Given the description of an element on the screen output the (x, y) to click on. 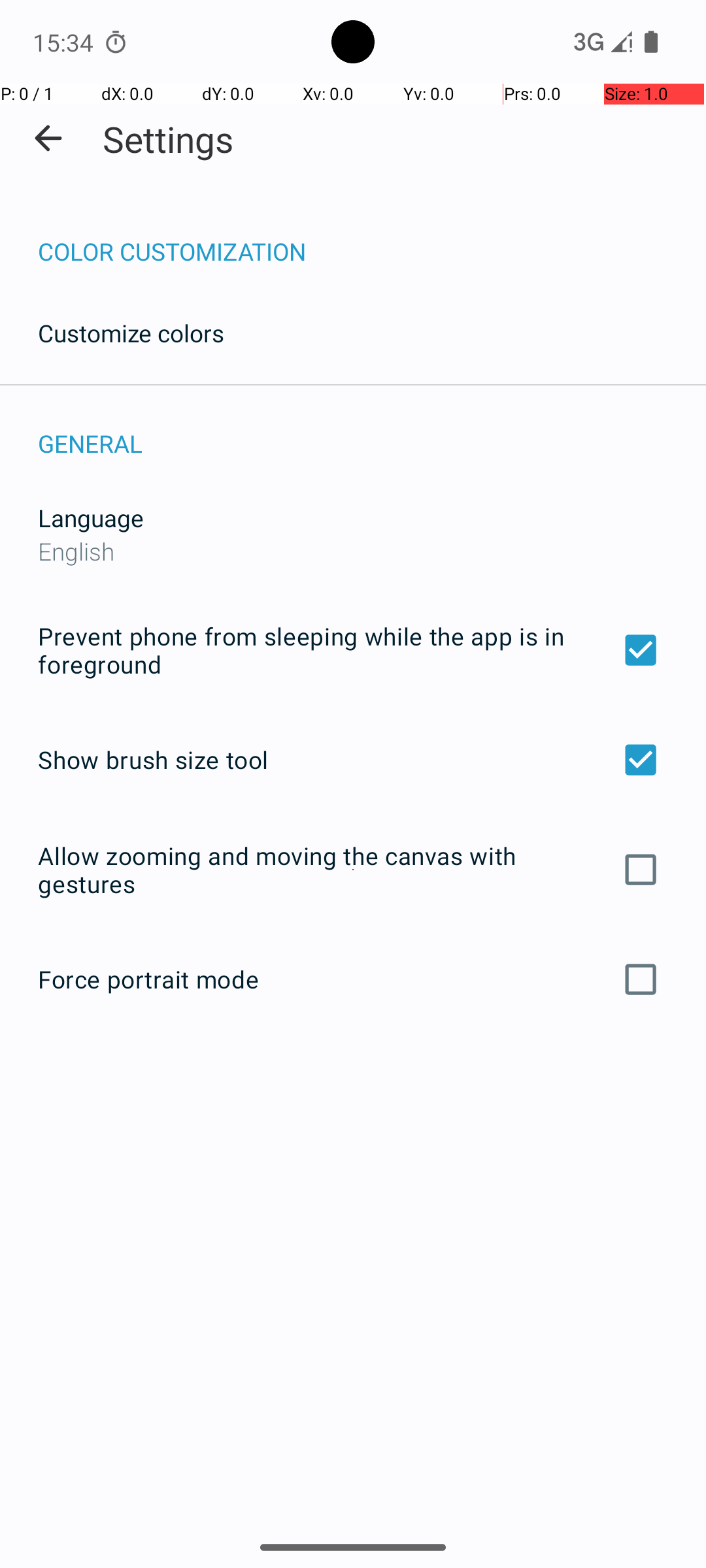
Prevent phone from sleeping while the app is in foreground Element type: android.widget.CheckBox (352, 649)
Show brush size tool Element type: android.widget.CheckBox (352, 759)
Allow zooming and moving the canvas with gestures Element type: android.widget.CheckBox (352, 869)
Force portrait mode Element type: android.widget.CheckBox (352, 979)
